Given the description of an element on the screen output the (x, y) to click on. 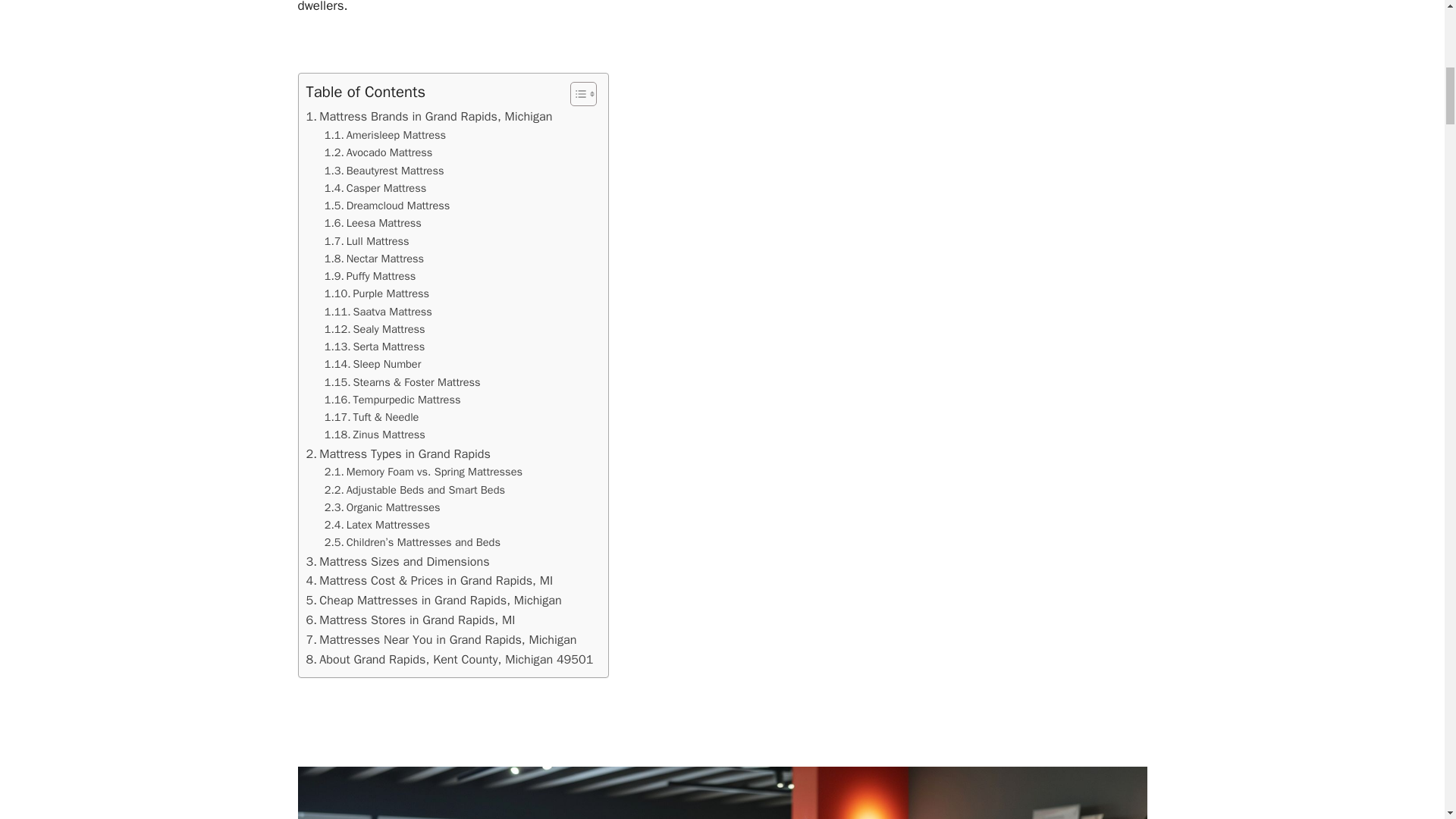
Leesa Mattress (373, 222)
Casper Mattress (375, 188)
Lull Mattress (366, 241)
Puffy Mattress (370, 276)
Purple Mattress (376, 293)
Amerisleep Mattress (384, 135)
Mattress Brands in Grand Rapids, Michigan (429, 116)
Avocado Mattress (378, 152)
Beautyrest Mattress (384, 170)
Saatva Mattress (378, 312)
